Given the description of an element on the screen output the (x, y) to click on. 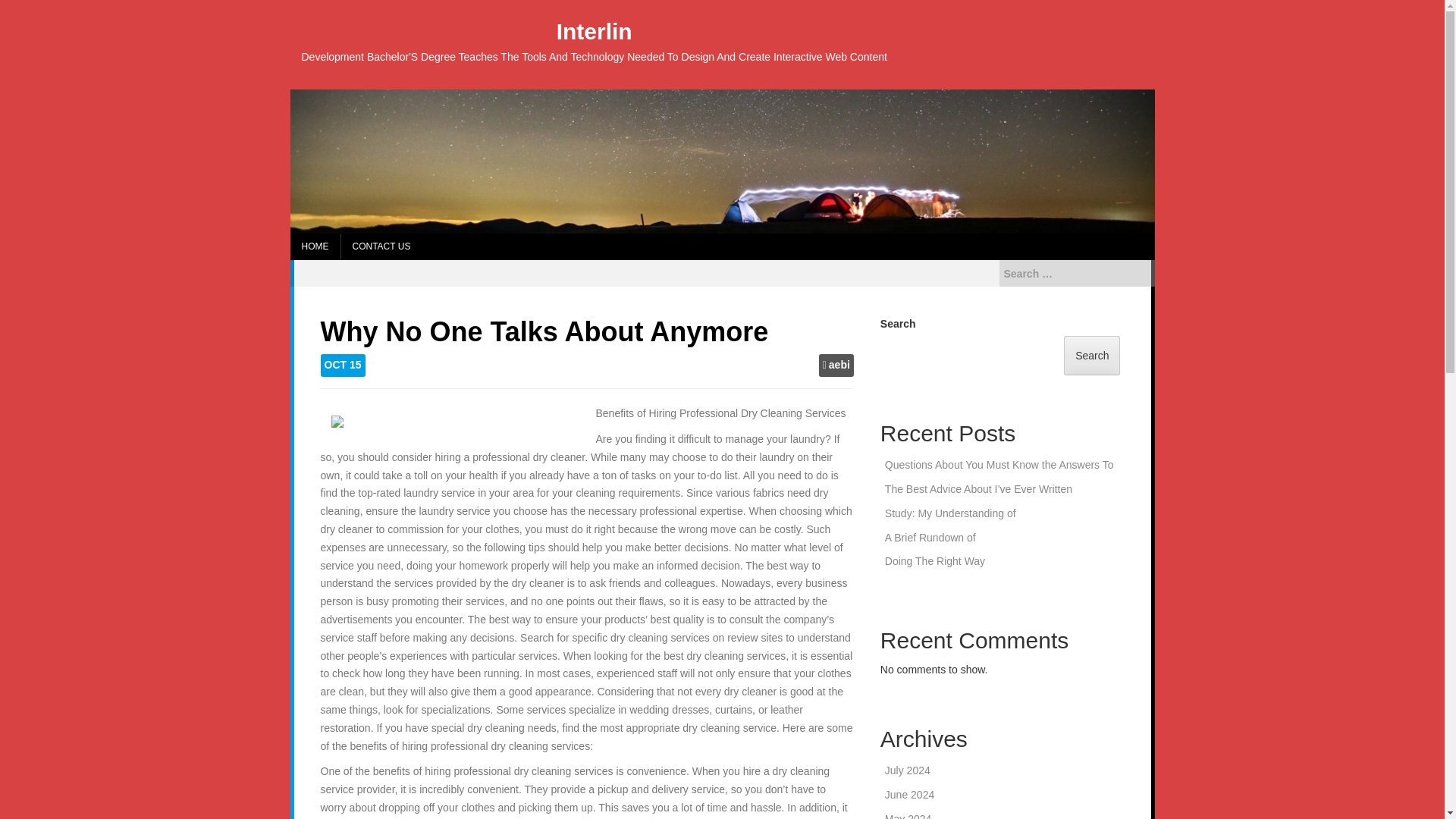
Doing The Right Way (935, 561)
Interlin (593, 31)
May 2024 (908, 816)
Search (1091, 355)
Study: My Understanding of (950, 512)
aebi (839, 365)
June 2024 (909, 794)
Search (24, 9)
Questions About You Must Know the Answers To (999, 464)
CONTACT US (381, 246)
A Brief Rundown of (930, 536)
HOME (314, 246)
July 2024 (907, 770)
